Given the description of an element on the screen output the (x, y) to click on. 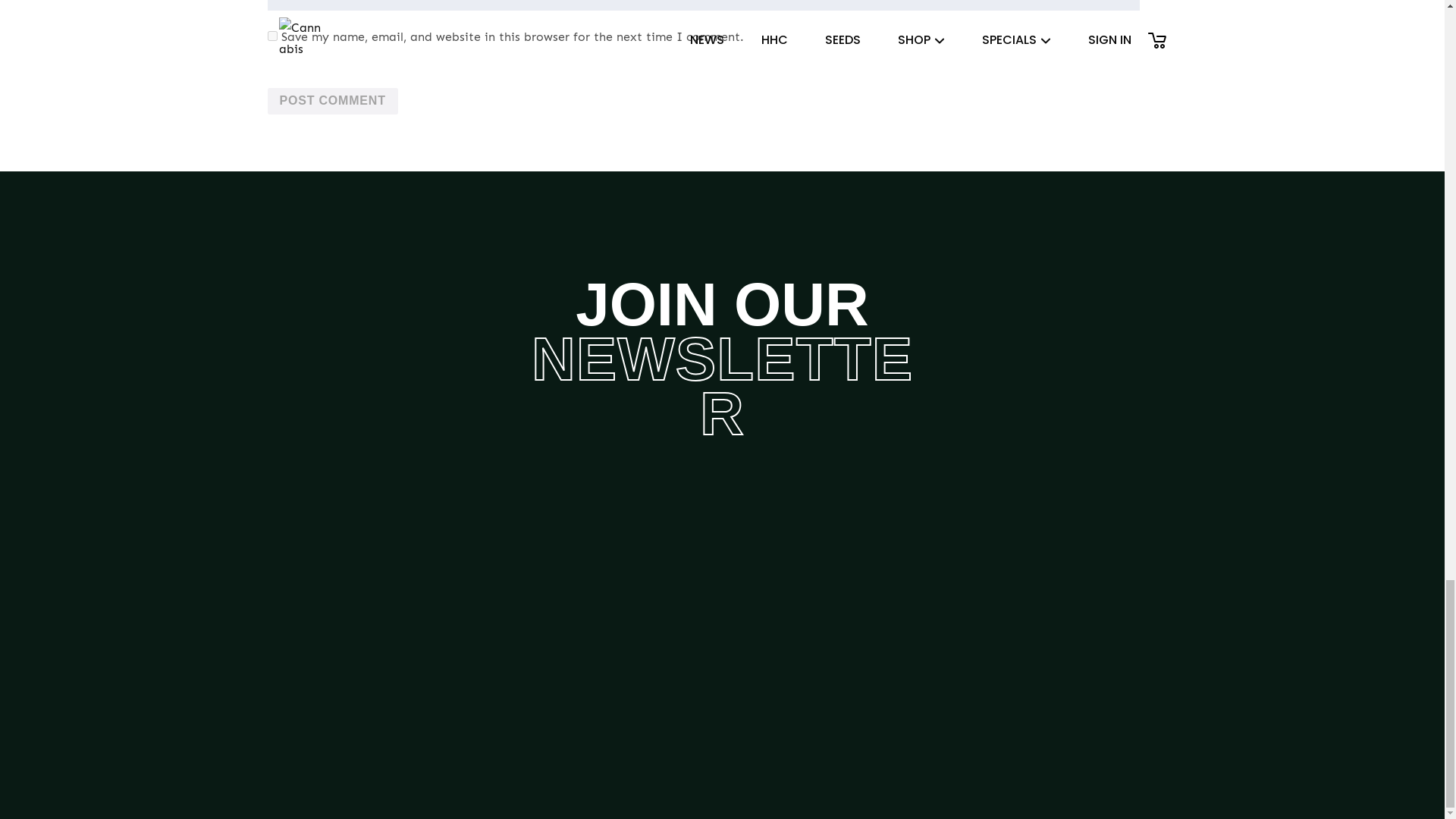
yes (271, 35)
Post Comment (331, 101)
